Given the description of an element on the screen output the (x, y) to click on. 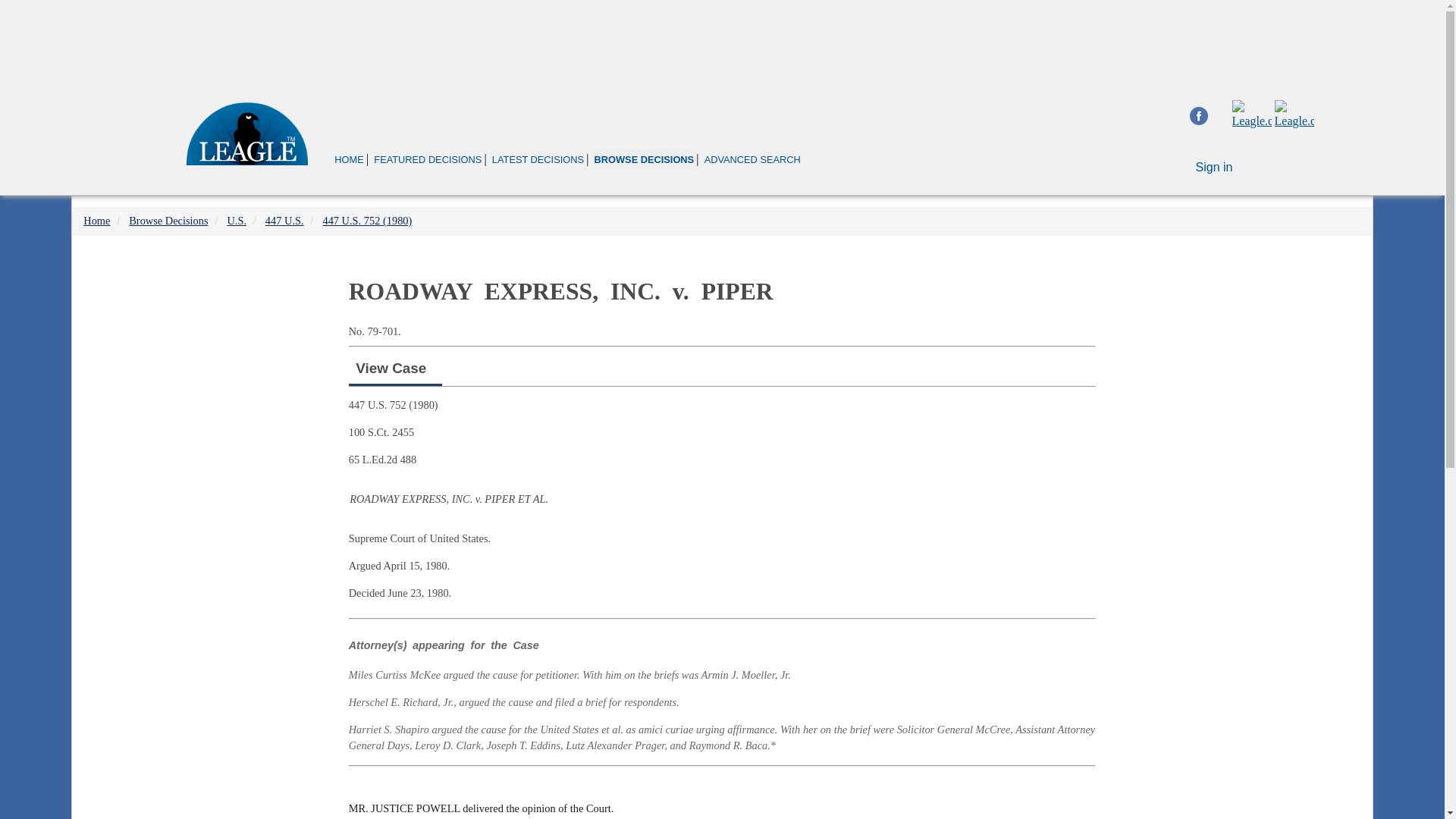
View Case (390, 367)
FEATURED DECISIONS (427, 159)
HOME (348, 159)
LATEST DECISIONS (537, 159)
U.S. (236, 220)
Home (96, 220)
447 U.S. (284, 220)
Sign in (1214, 166)
ADVANCED SEARCH (752, 159)
BROWSE DECISIONS (643, 159)
